Given the description of an element on the screen output the (x, y) to click on. 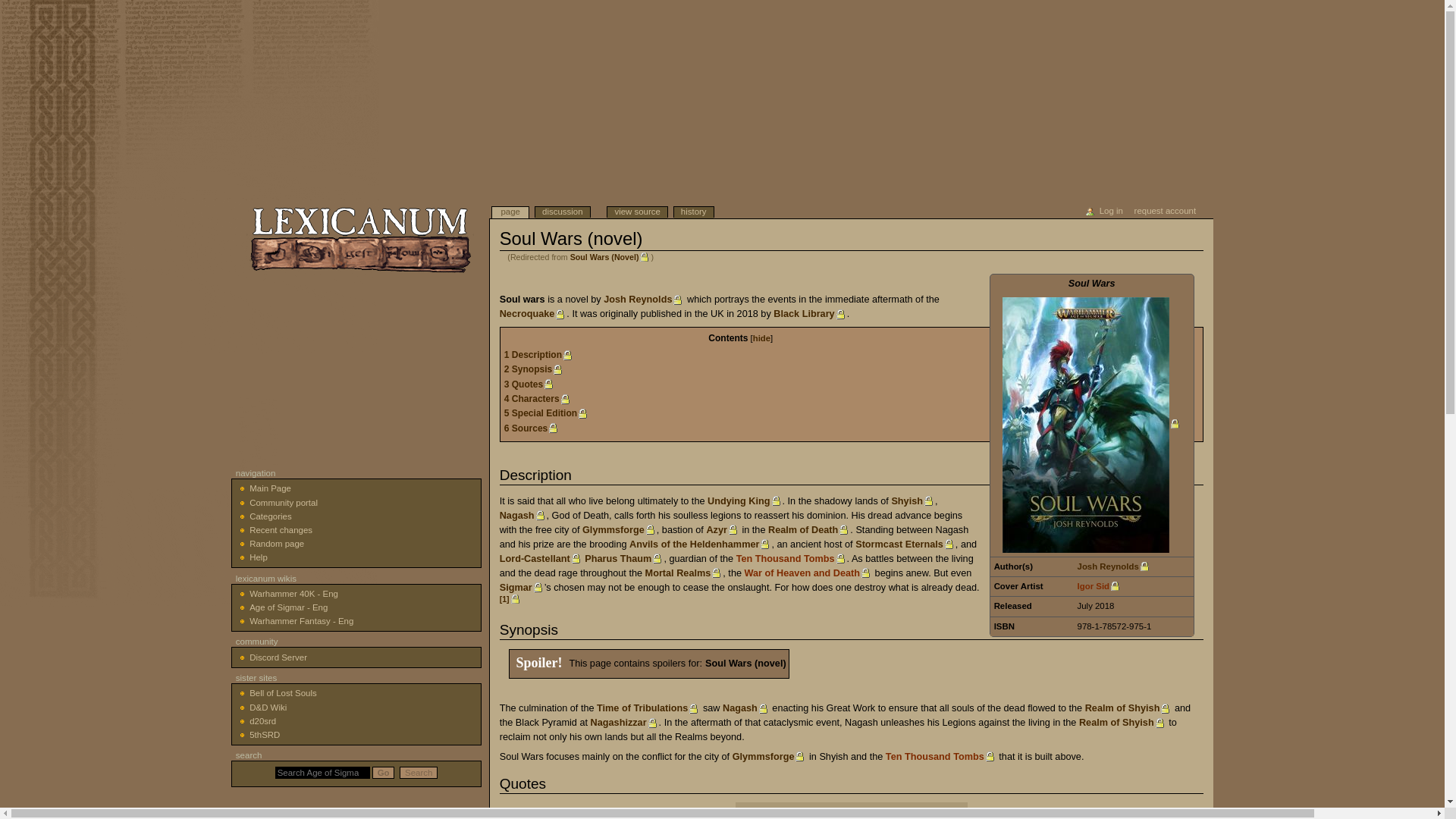
Stormcast Eternals (905, 543)
Necroquake (533, 313)
Lord-Castellant (540, 558)
Mortal Realms (684, 573)
3 Quotes (529, 384)
Black Library (809, 313)
Realm of Death (809, 529)
Mortal Realms (684, 573)
hide (761, 338)
Lord-Castellant (540, 558)
6 Sources (531, 428)
Josh Reynolds (644, 299)
Shyish (912, 501)
Realm of Death (809, 529)
Sigmar (521, 587)
